Given the description of an element on the screen output the (x, y) to click on. 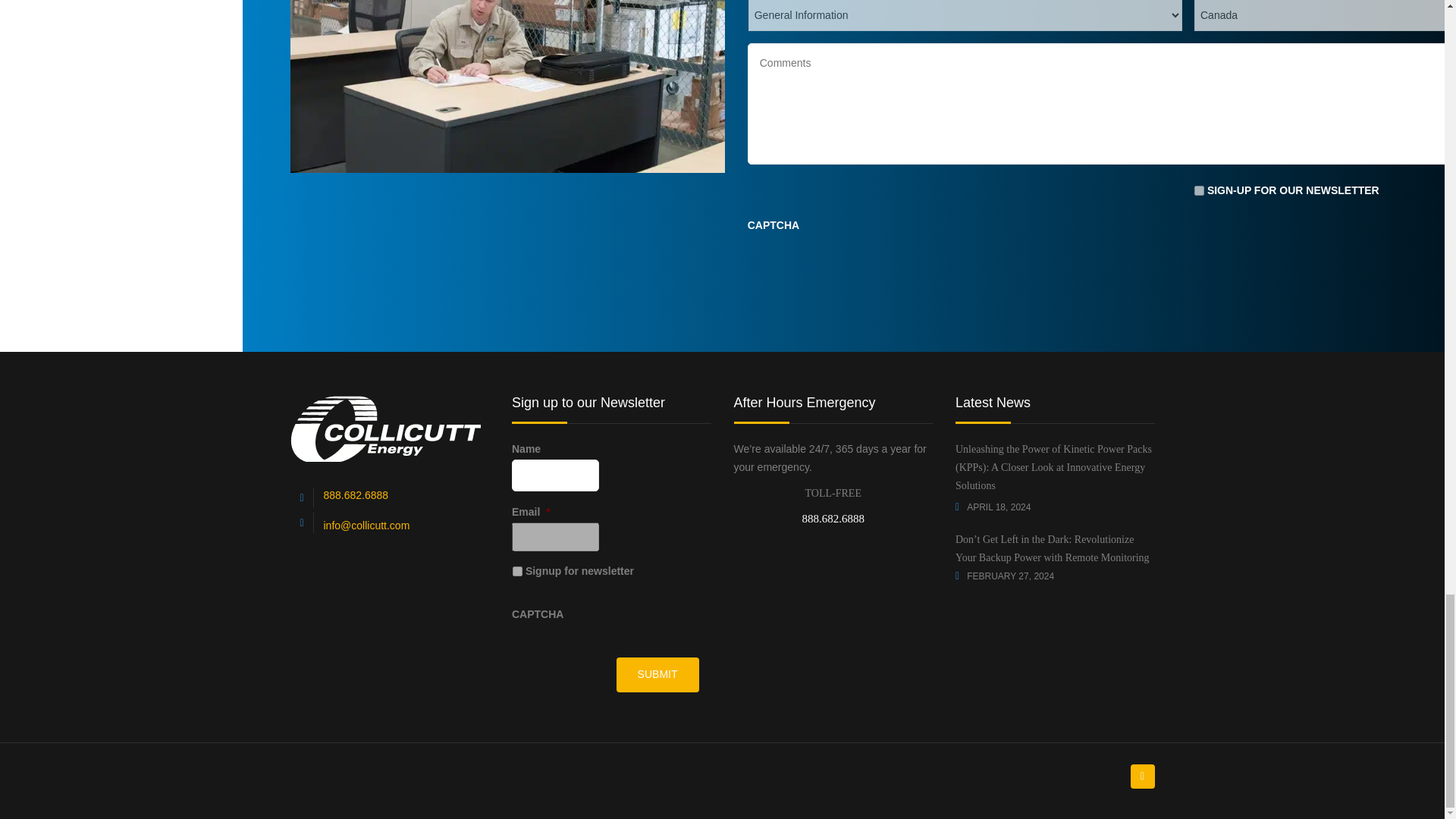
888.682.6888 (355, 494)
888.682.6888 (833, 518)
Submit (656, 674)
Submit (656, 674)
YES (517, 571)
YES (1198, 190)
